Given the description of an element on the screen output the (x, y) to click on. 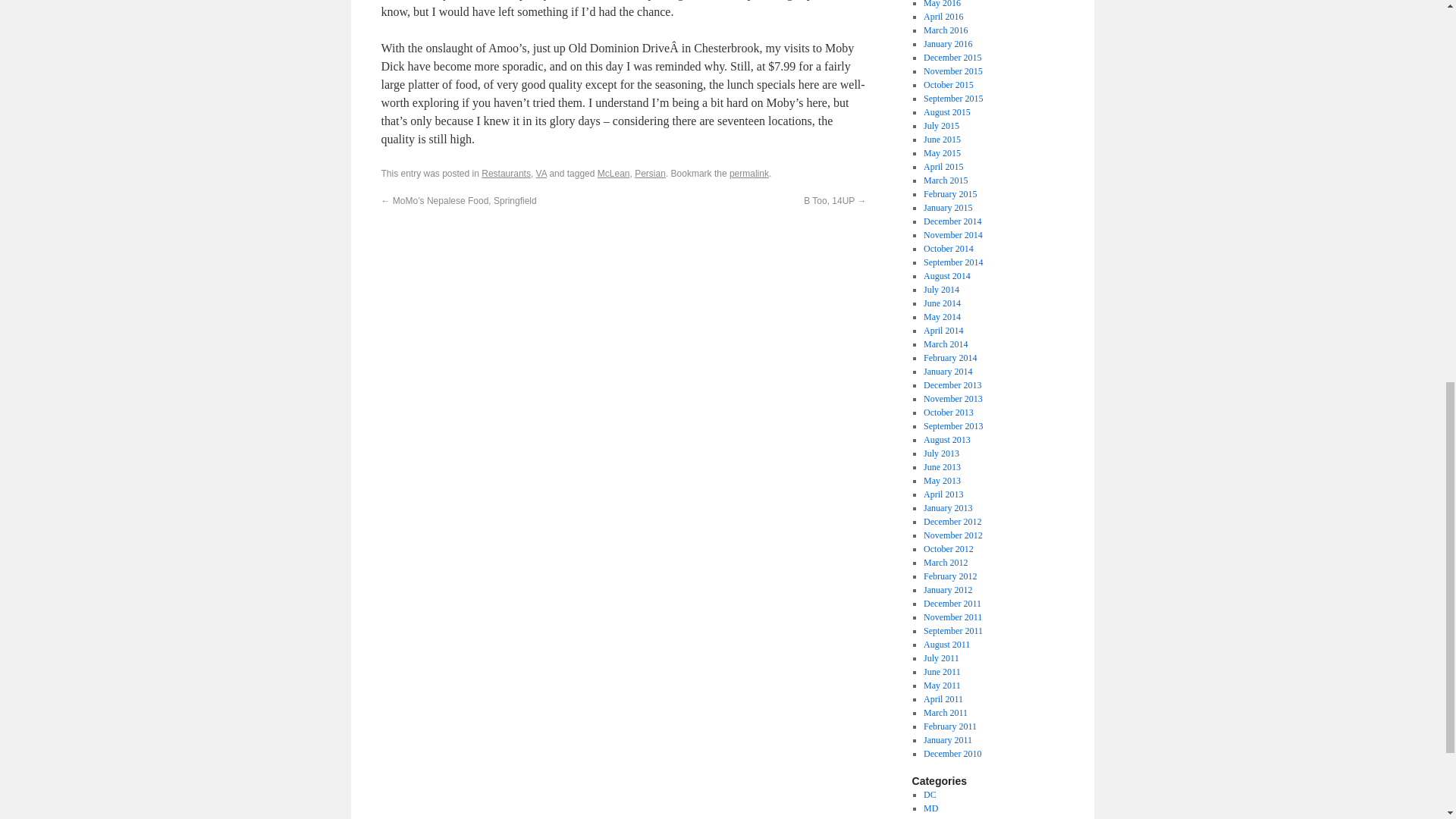
VA (541, 173)
permalink (748, 173)
McLean (613, 173)
Persian (649, 173)
Permalink to Moby Dick, McLean (748, 173)
Restaurants (506, 173)
